Given the description of an element on the screen output the (x, y) to click on. 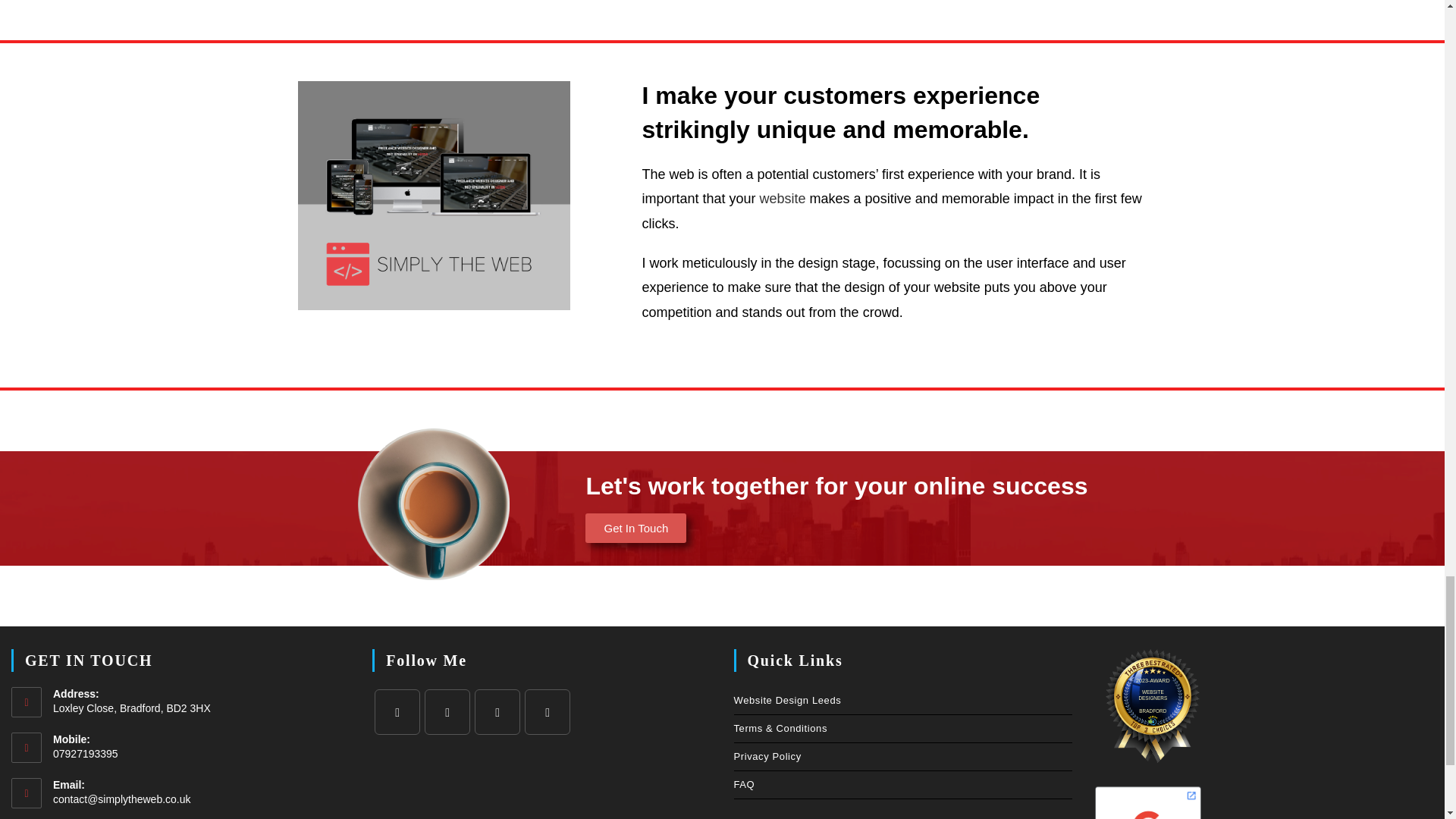
07927193395 (200, 753)
website (783, 198)
Get In Touch (635, 527)
coffee (433, 503)
